Given the description of an element on the screen output the (x, y) to click on. 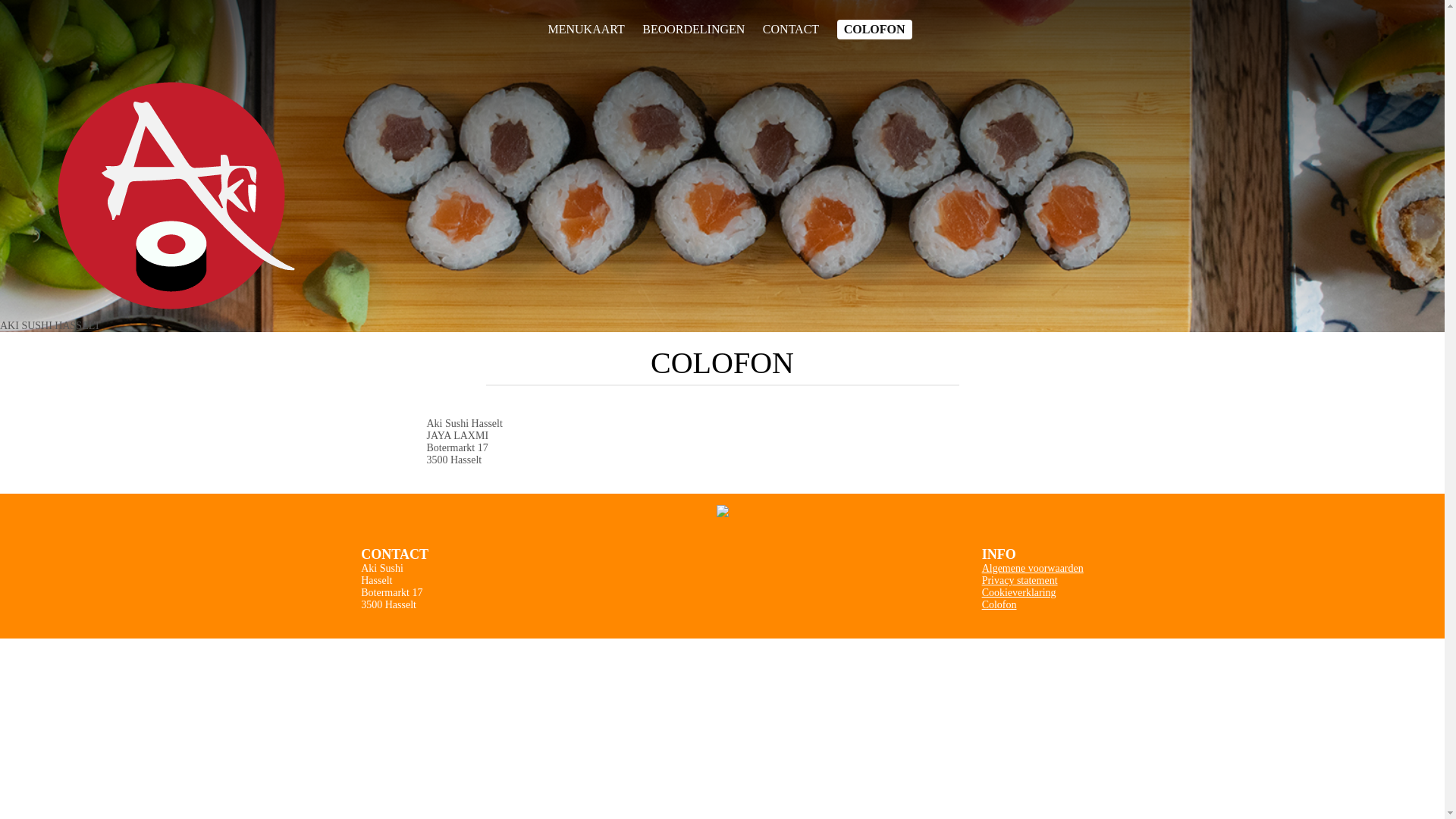
COLOFON Element type: text (874, 29)
Algemene voorwaarden Element type: text (1032, 568)
MENUKAART Element type: text (585, 29)
Cookieverklaring Element type: text (1019, 592)
Privacy statement Element type: text (1019, 580)
CONTACT Element type: text (790, 29)
BEOORDELINGEN Element type: text (693, 29)
Colofon Element type: text (999, 604)
